Given the description of an element on the screen output the (x, y) to click on. 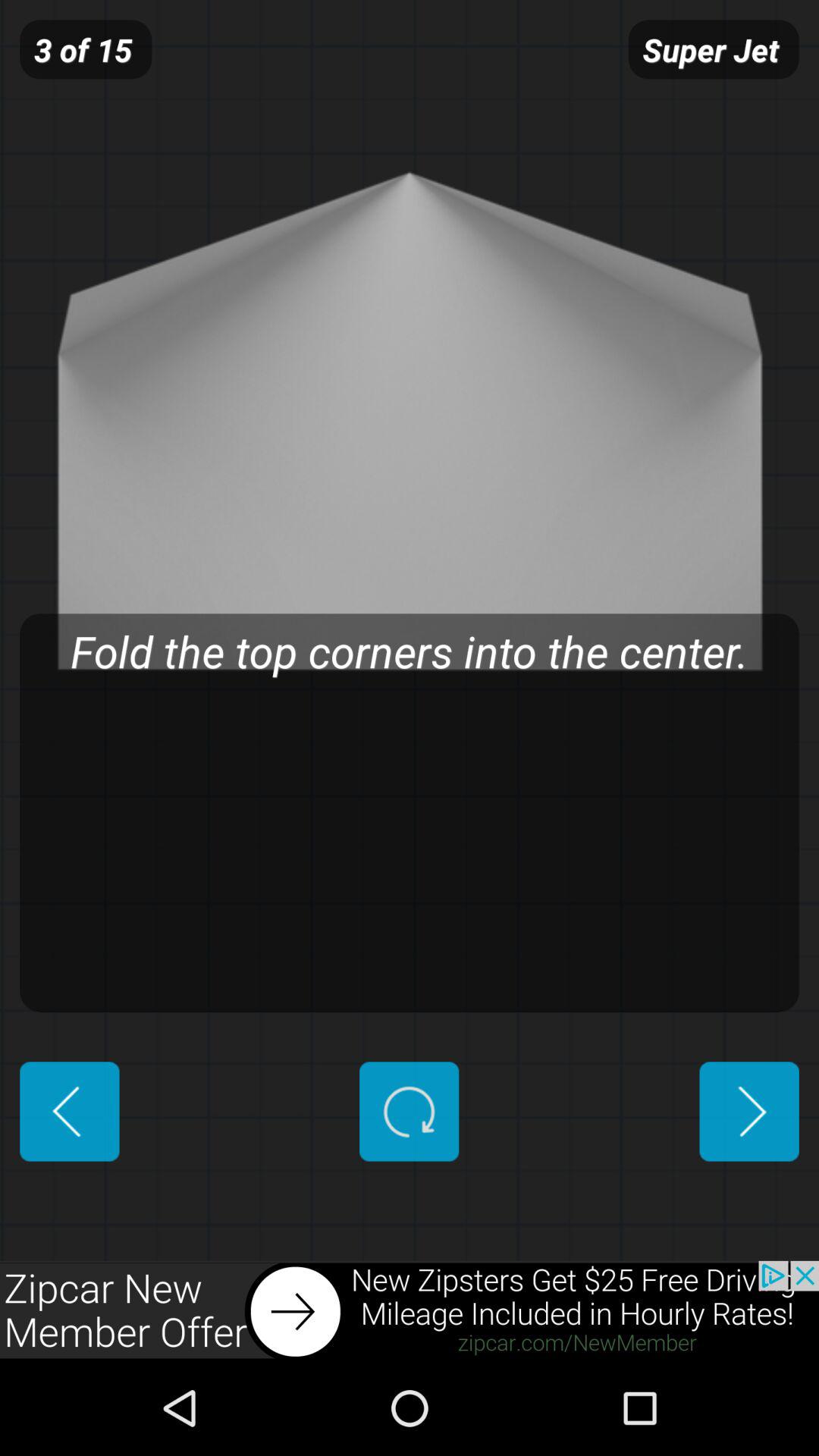
advertising (409, 1310)
